Given the description of an element on the screen output the (x, y) to click on. 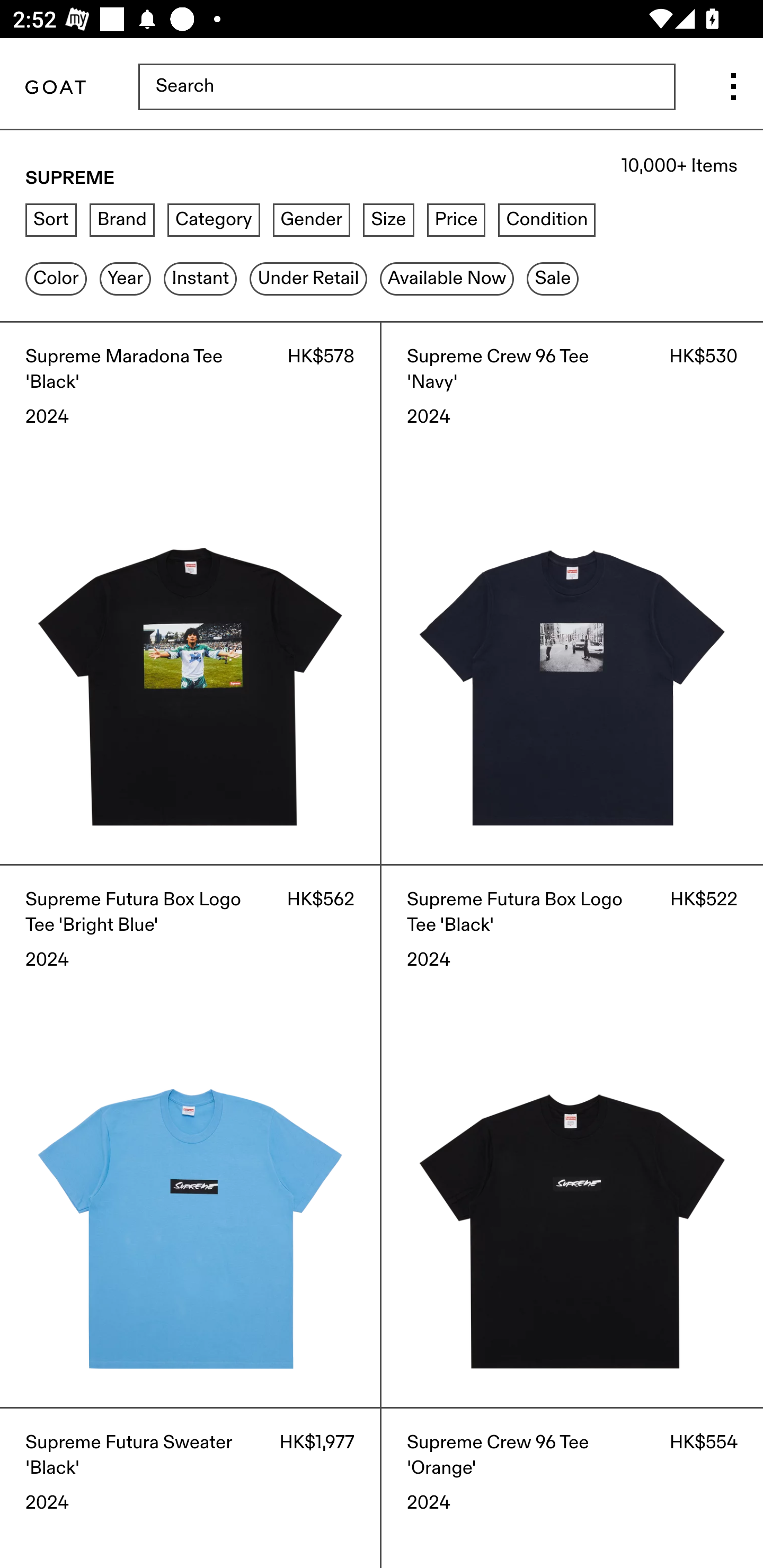
Search (406, 87)
menu (733, 87)
menu (733, 87)
Goat Logo (55, 87)
Sort (51, 219)
Brand (122, 219)
Category (213, 219)
Gender (310, 219)
Size (388, 219)
Price (455, 219)
Condition (546, 219)
Color (56, 278)
Year (125, 278)
Instant (201, 278)
Under Retail (308, 278)
Available Now (446, 278)
Sale (552, 278)
